Given the description of an element on the screen output the (x, y) to click on. 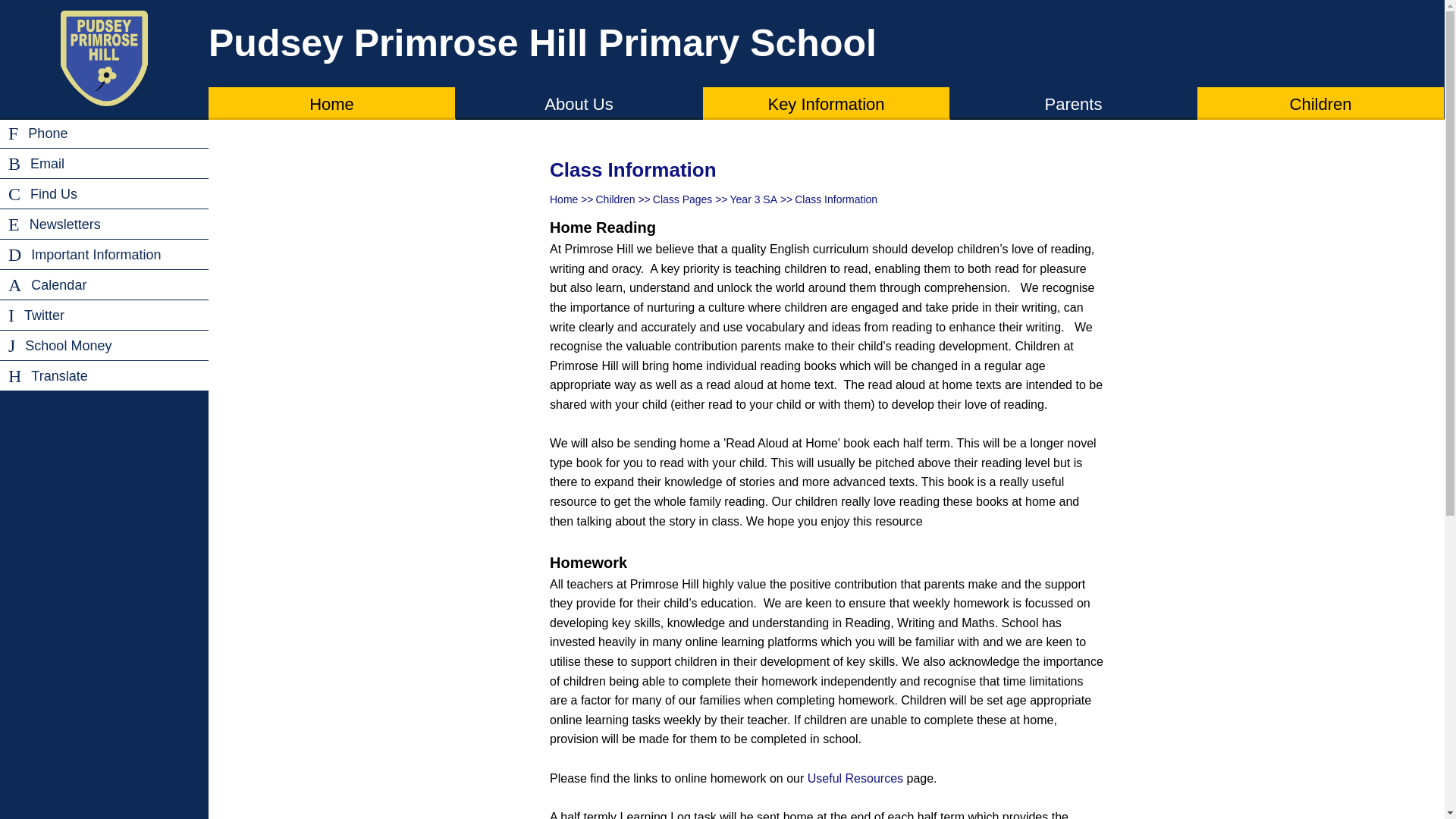
Key Information (826, 101)
About Us (578, 101)
Home (331, 101)
Home Page (104, 58)
